Given the description of an element on the screen output the (x, y) to click on. 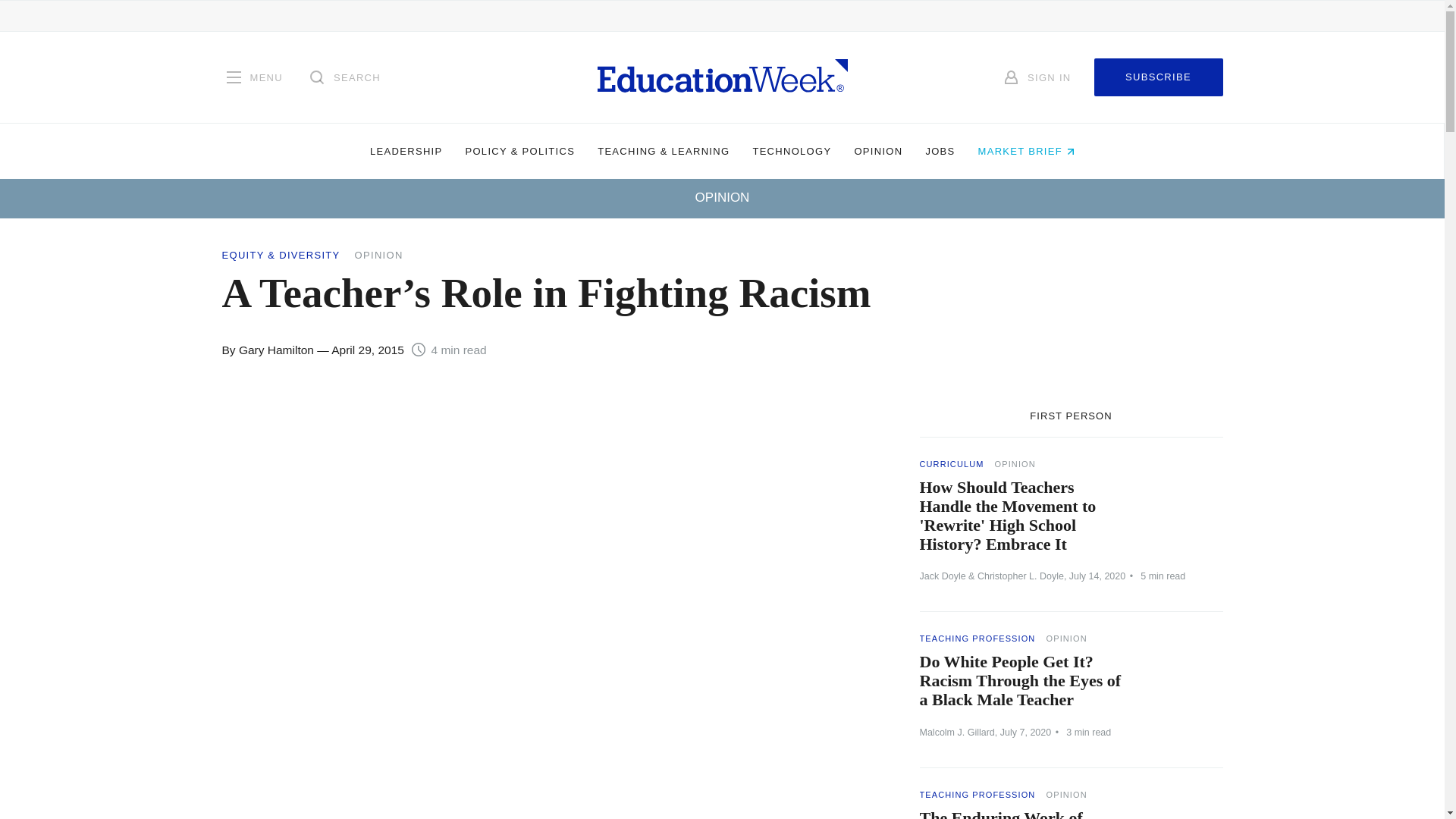
Homepage (721, 76)
